Given the description of an element on the screen output the (x, y) to click on. 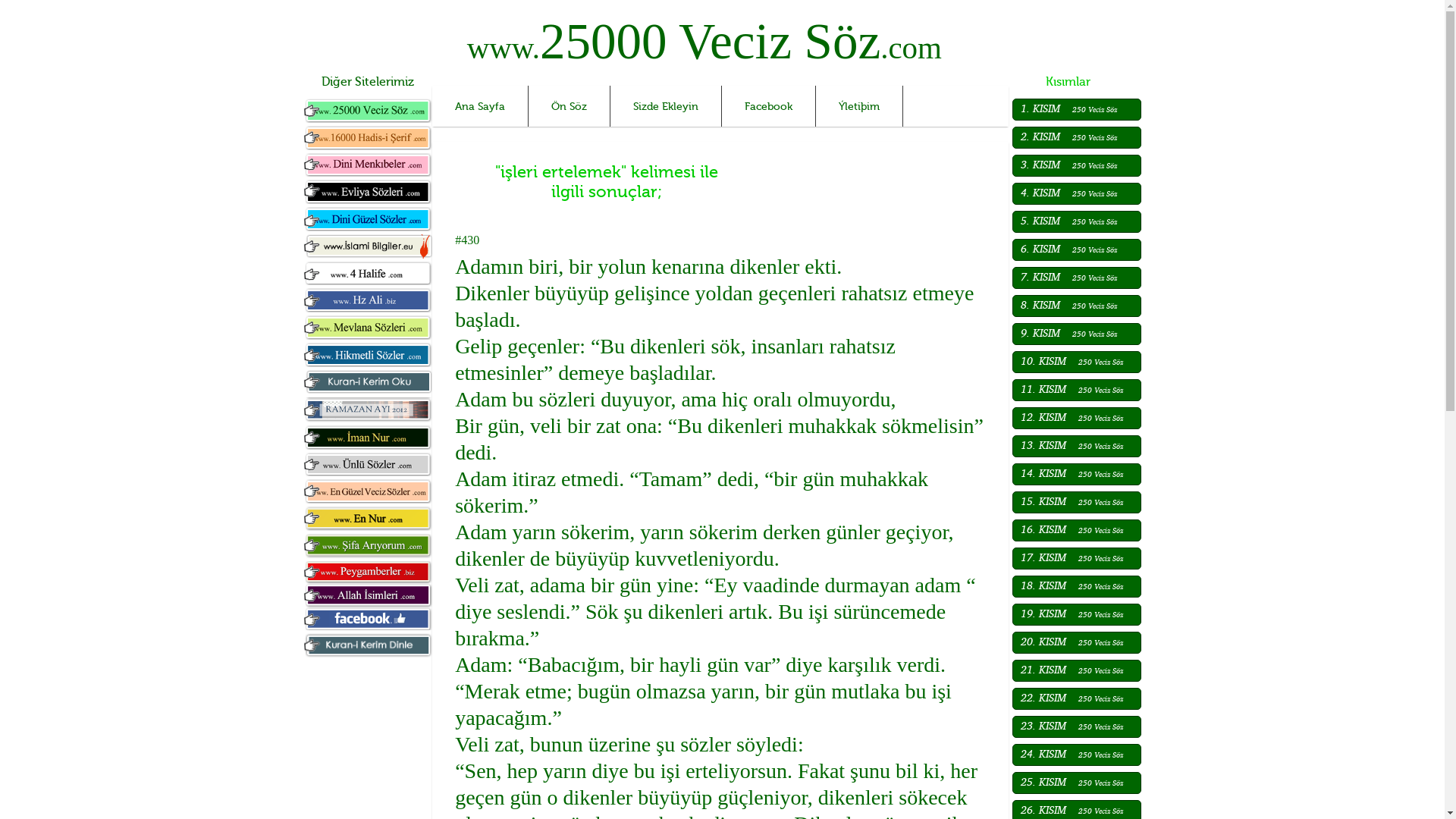
Facebook Element type: text (768, 105)
Ana Sayfa Element type: text (480, 105)
Sizde Ekleyin Element type: text (665, 105)
islami bilgiler Element type: hover (367, 246)
